Given the description of an element on the screen output the (x, y) to click on. 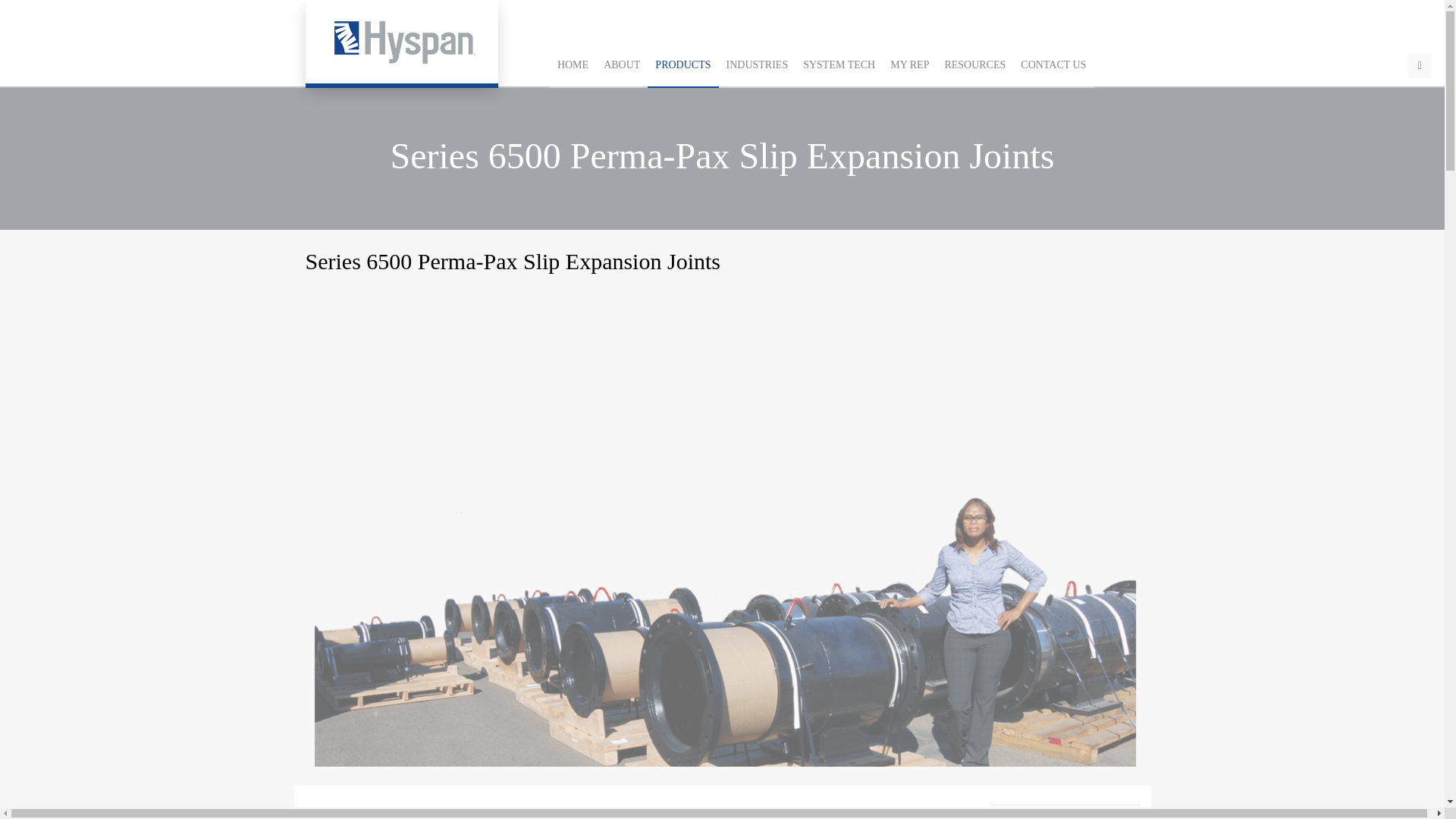
PRODUCTS (682, 65)
Search (1419, 65)
ABOUT (621, 65)
INDUSTRIES (757, 65)
6500Cover (1064, 814)
SYSTEM TECH (838, 65)
HOME (572, 65)
Hyspan (400, 41)
